Given the description of an element on the screen output the (x, y) to click on. 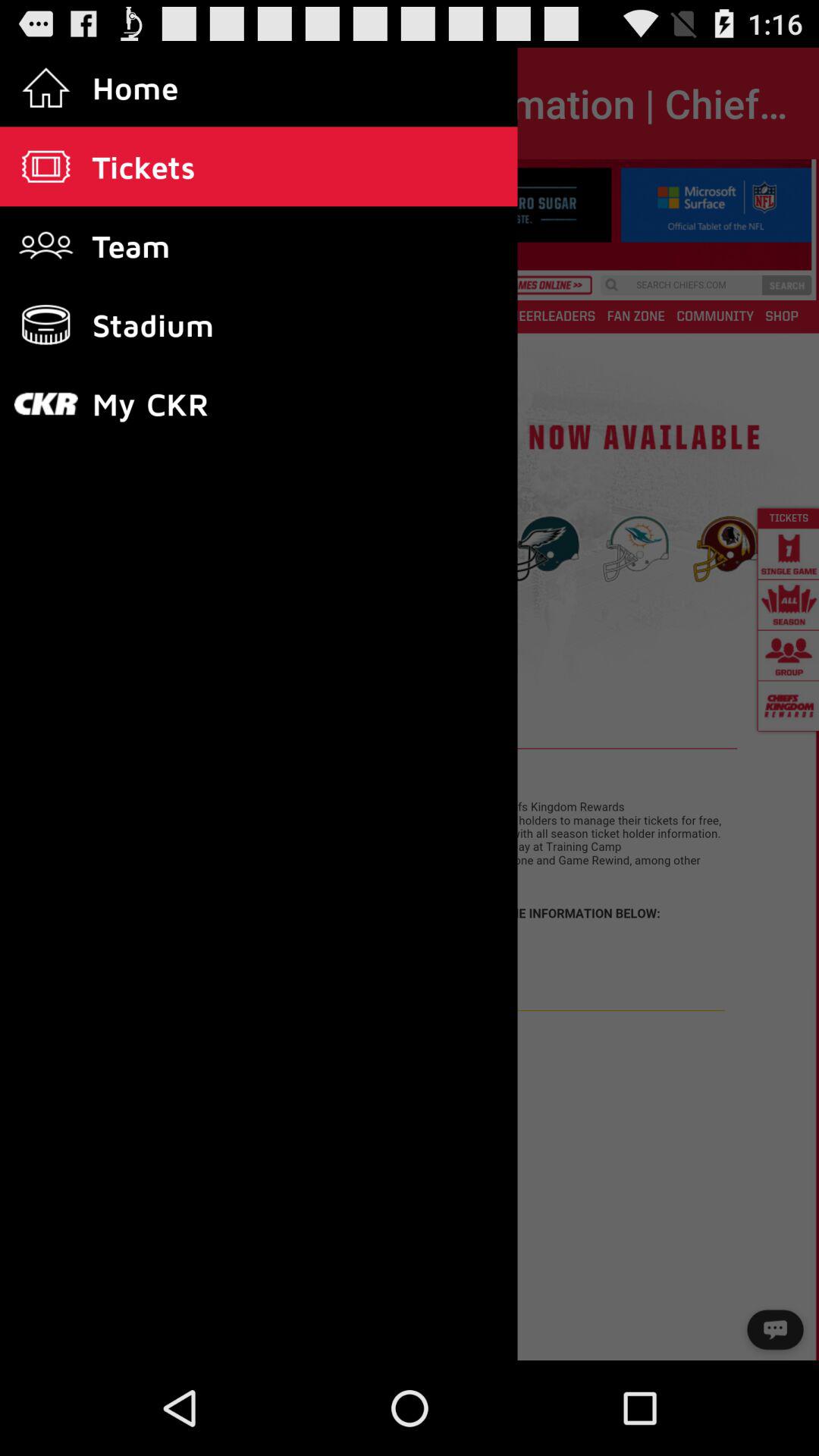
the entire interface of the app (409, 759)
